Given the description of an element on the screen output the (x, y) to click on. 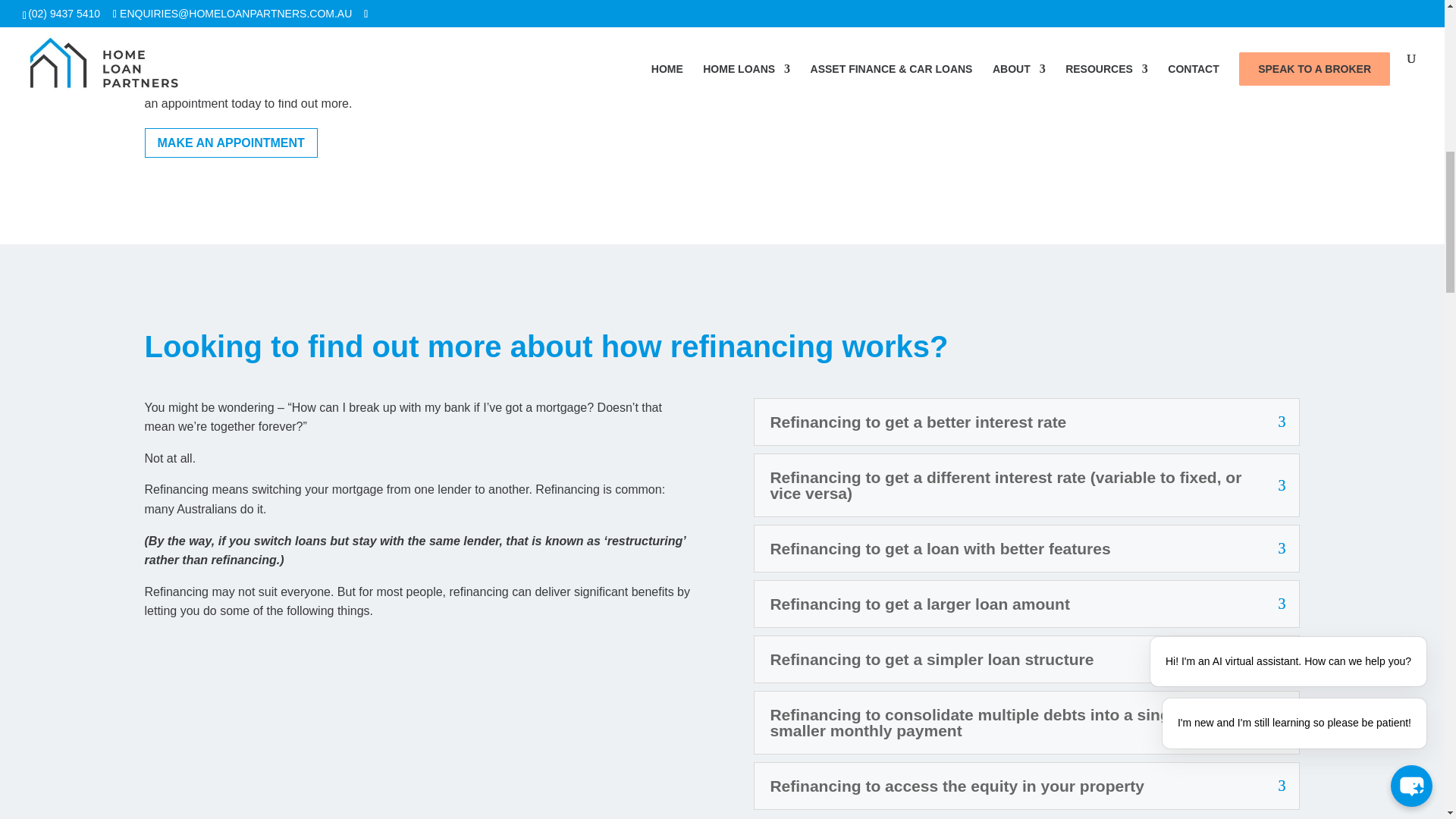
Page 8 (417, 56)
refinance-content01 (955, 37)
